Given the description of an element on the screen output the (x, y) to click on. 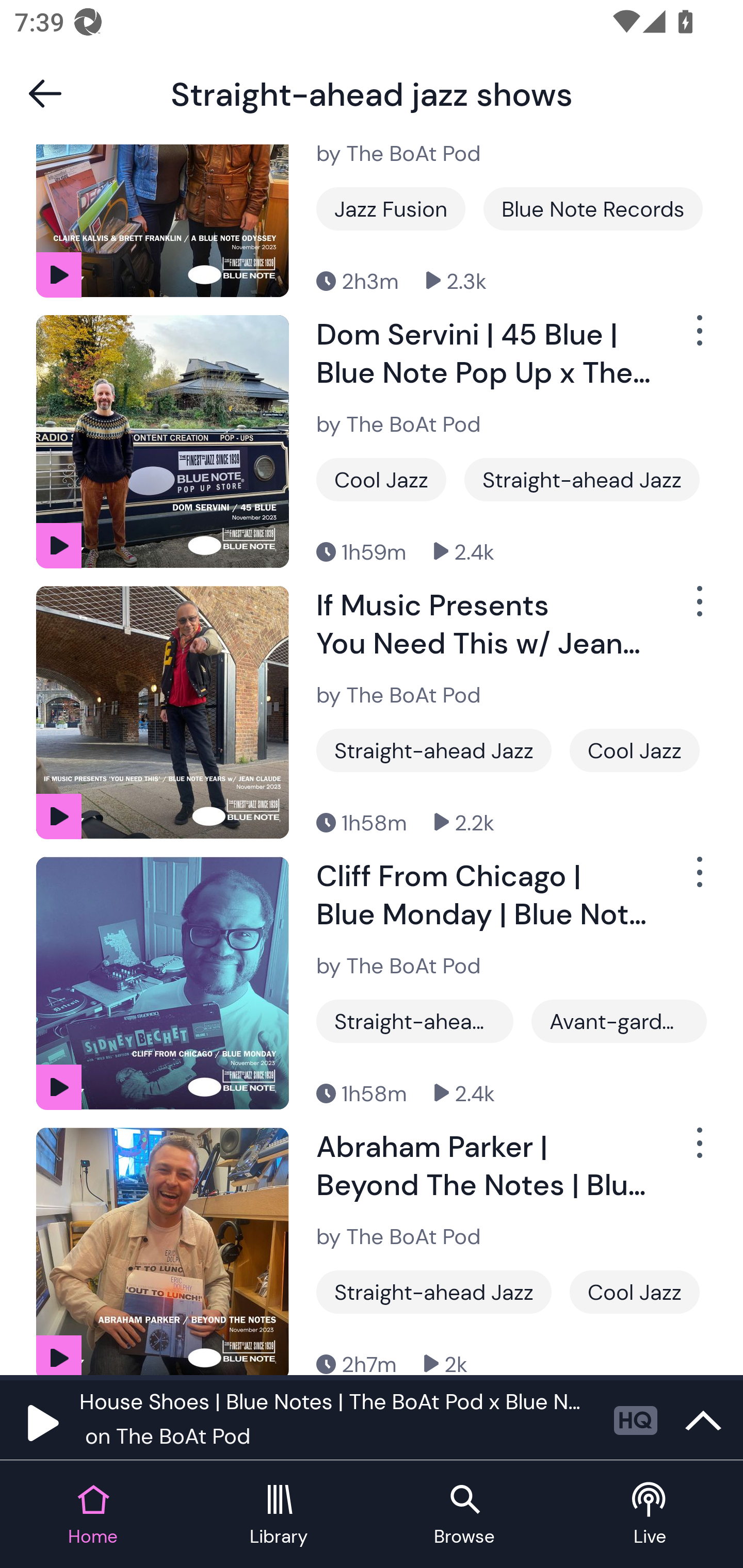
Jazz Fusion (390, 208)
Blue Note Records (592, 208)
Show Options Menu Button (697, 338)
Cool Jazz (381, 479)
Straight-ahead Jazz (581, 479)
Show Options Menu Button (697, 609)
Straight-ahead Jazz (433, 750)
Cool Jazz (634, 750)
Show Options Menu Button (697, 879)
Straight-ahead Jazz (414, 1021)
Avant-garde Jazz (618, 1021)
Show Options Menu Button (697, 1150)
Straight-ahead Jazz (433, 1291)
Cool Jazz (634, 1291)
Home tab Home (92, 1515)
Library tab Library (278, 1515)
Browse tab Browse (464, 1515)
Live tab Live (650, 1515)
